Given the description of an element on the screen output the (x, y) to click on. 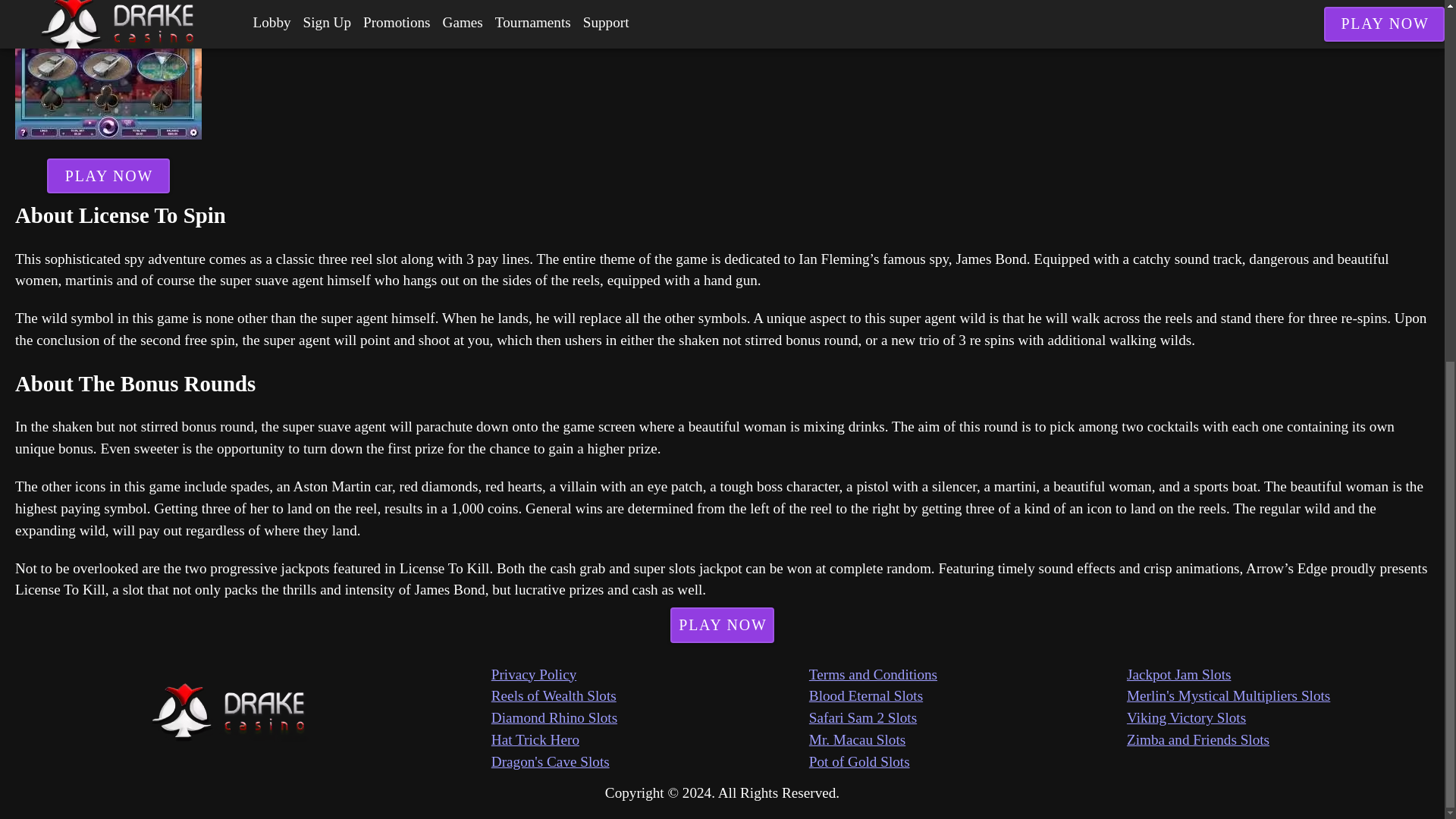
Pot of Gold Slots (967, 762)
Privacy Policy (650, 675)
Safari Sam 2 Slots (967, 718)
Dragon's Cave Slots (650, 762)
PLAY NOW (108, 175)
Mr. Macau Slots (967, 740)
Blood Eternal Slots (967, 696)
PLAY NOW (721, 624)
Terms and Conditions (967, 675)
Diamond Rhino Slots (650, 718)
Reels of Wealth Slots (650, 696)
Hat Trick Hero (650, 740)
